Given the description of an element on the screen output the (x, y) to click on. 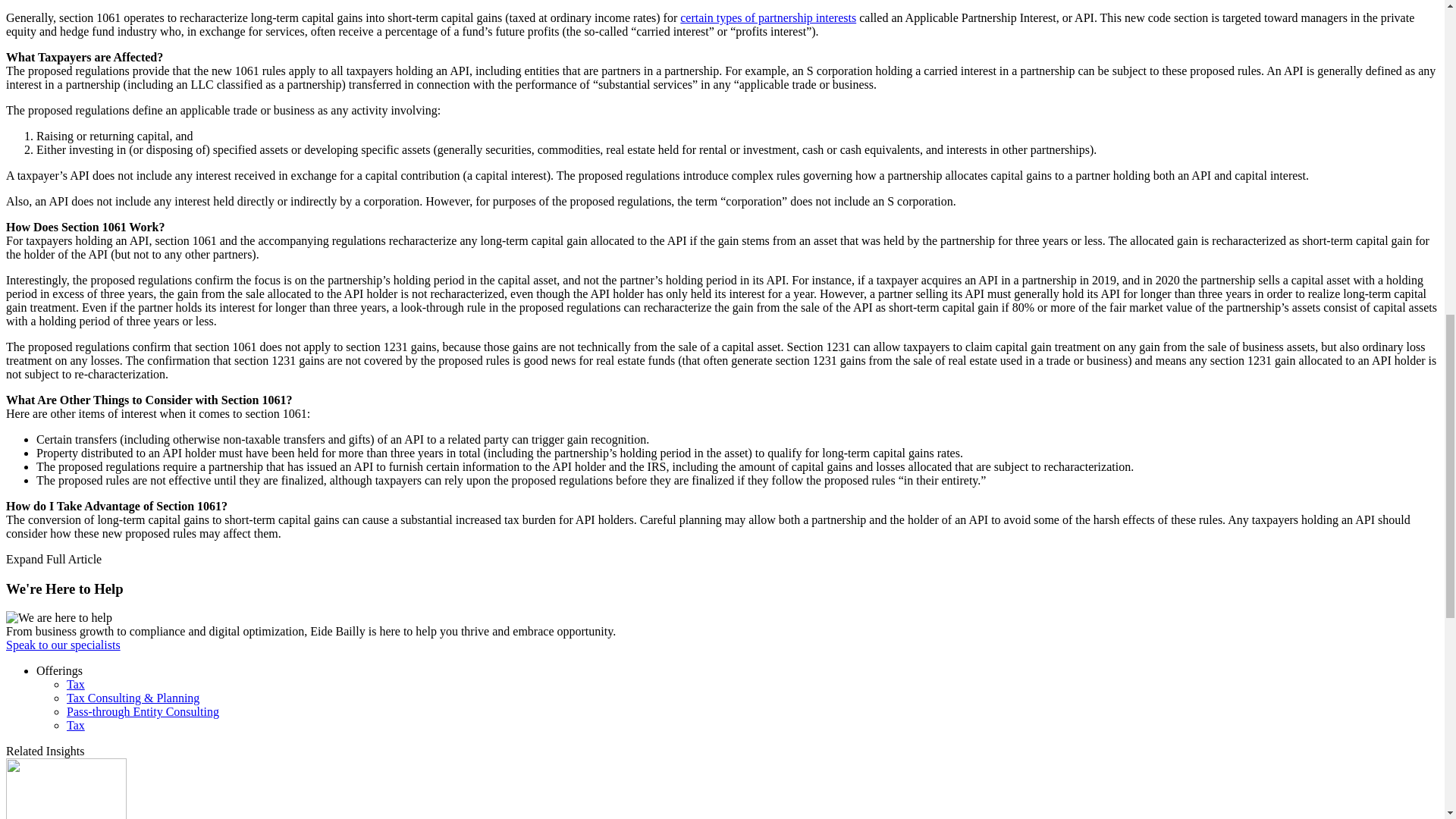
Tax (75, 725)
certain types of partnership interests (767, 17)
Pass-through Entity Consulting (142, 711)
Speak to our specialists (62, 644)
Expand Full Article (53, 558)
Tax (75, 684)
